Given the description of an element on the screen output the (x, y) to click on. 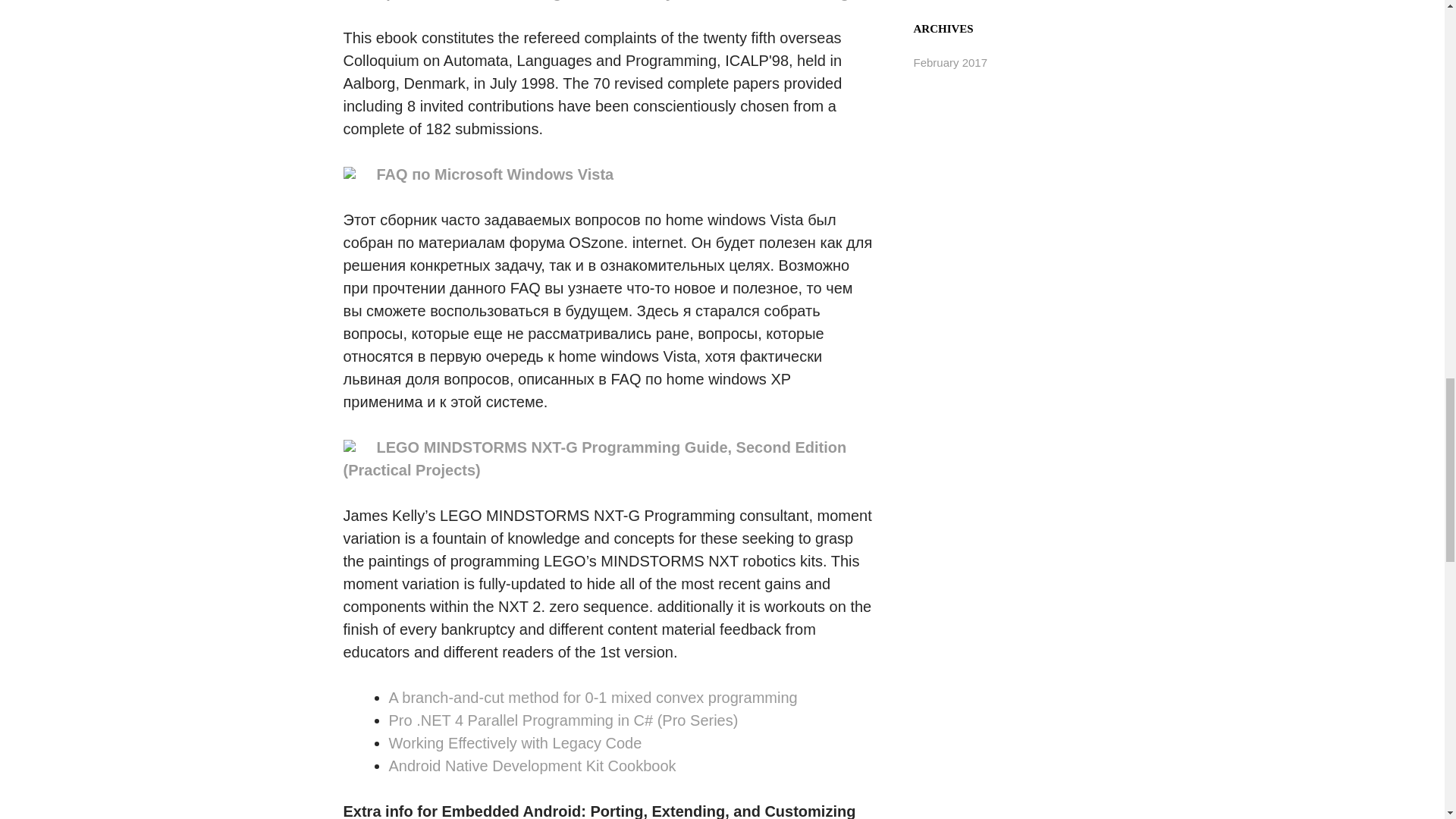
A branch-and-cut method for 0-1 mixed convex programming (592, 697)
Android Native Development Kit Cookbook (531, 765)
Working Effectively with Legacy Code (515, 742)
